Given the description of an element on the screen output the (x, y) to click on. 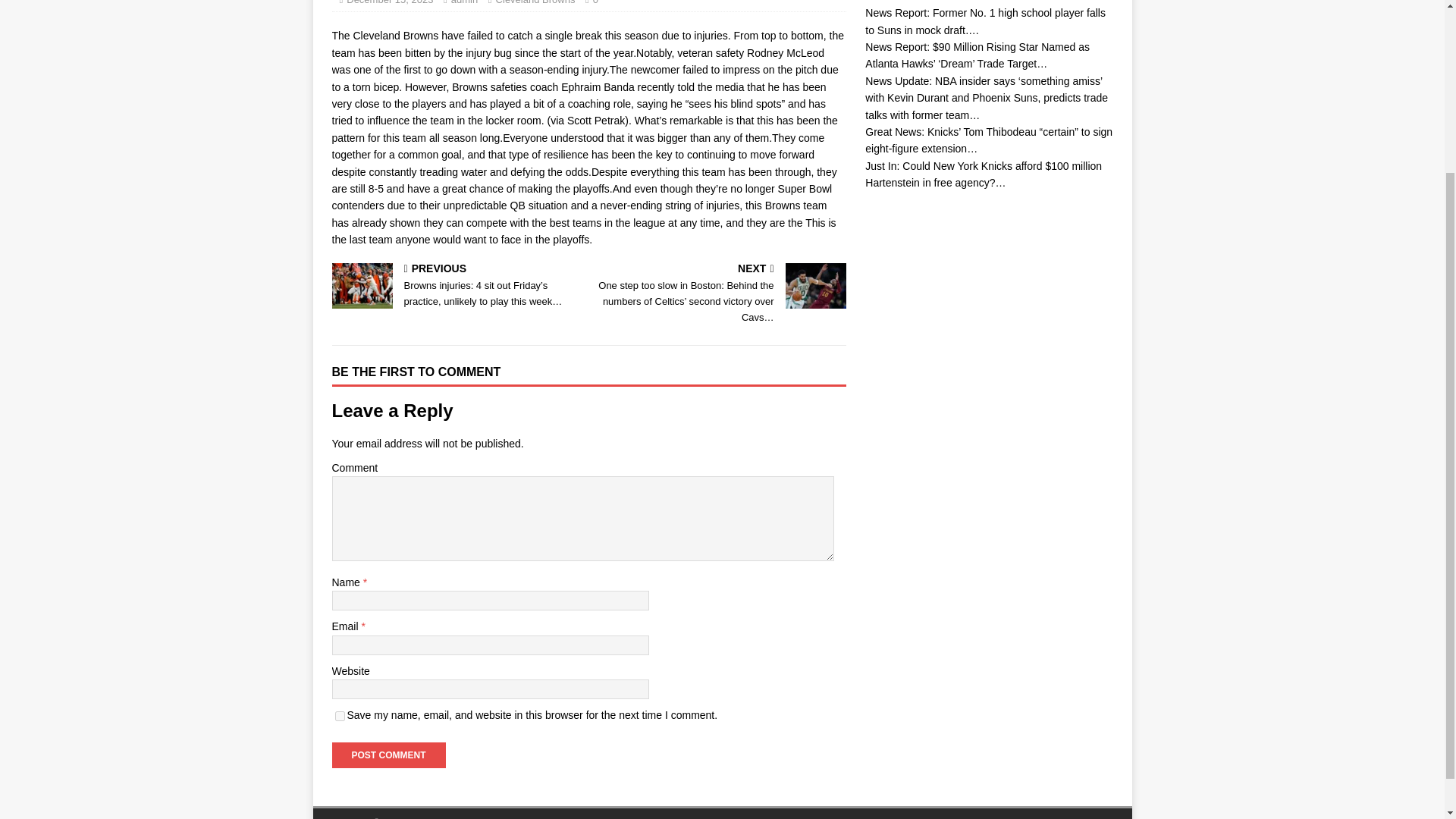
Cleveland Browns (535, 2)
December 15, 2023 (389, 2)
yes (339, 716)
Post Comment (388, 755)
admin (464, 2)
Post Comment (388, 755)
